Given the description of an element on the screen output the (x, y) to click on. 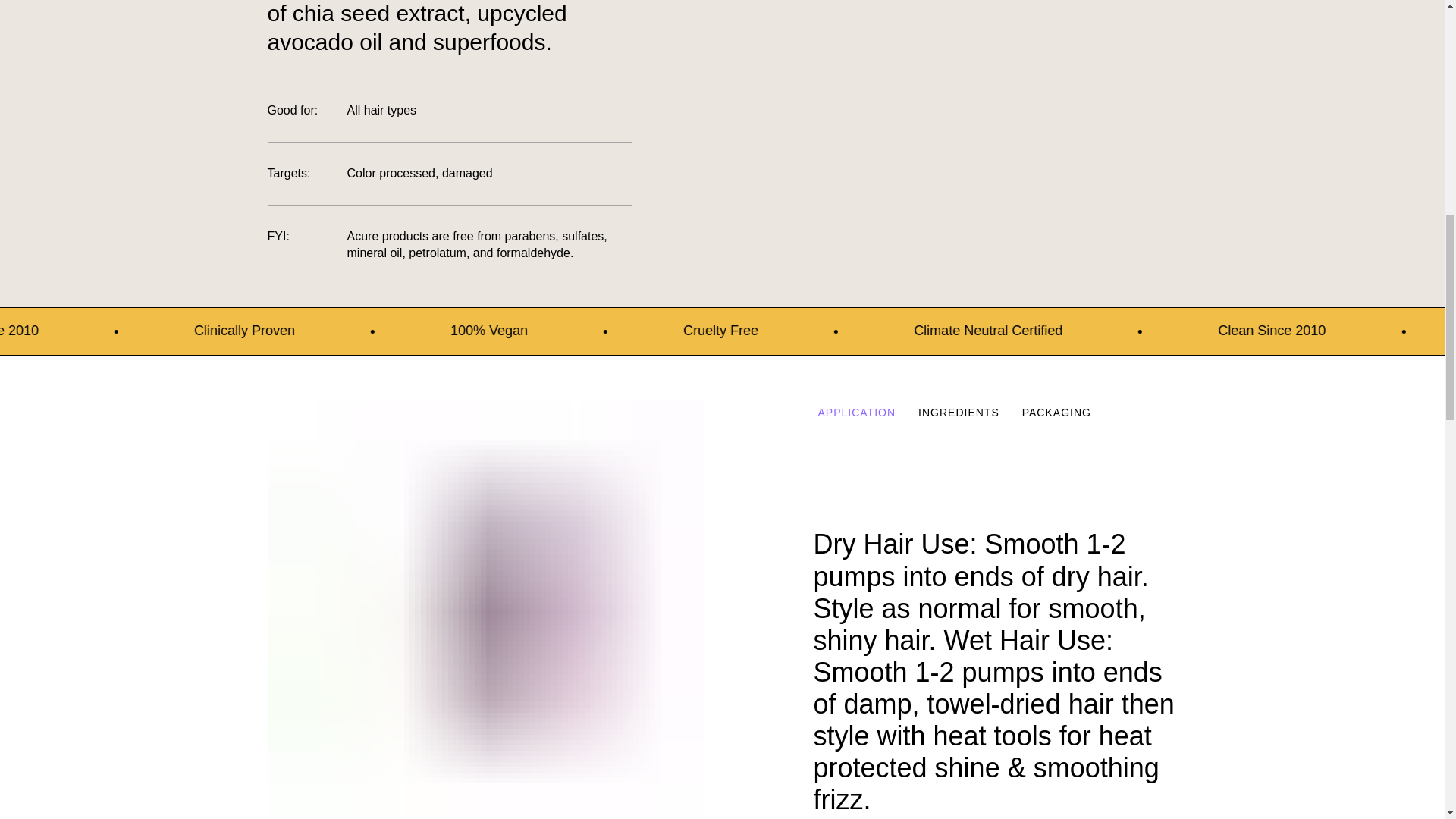
Clean Since 2010 (215, 331)
Climate Neutral Certified (85, 331)
Climate Neutral Certified (1193, 331)
Clean Since 2010 (294, 331)
Climate Neutral Certified (1274, 331)
Cruelty Free (935, 331)
Clinically Proven (550, 331)
Cruelty Free (1014, 331)
Clinically Proven (470, 331)
